Given the description of an element on the screen output the (x, y) to click on. 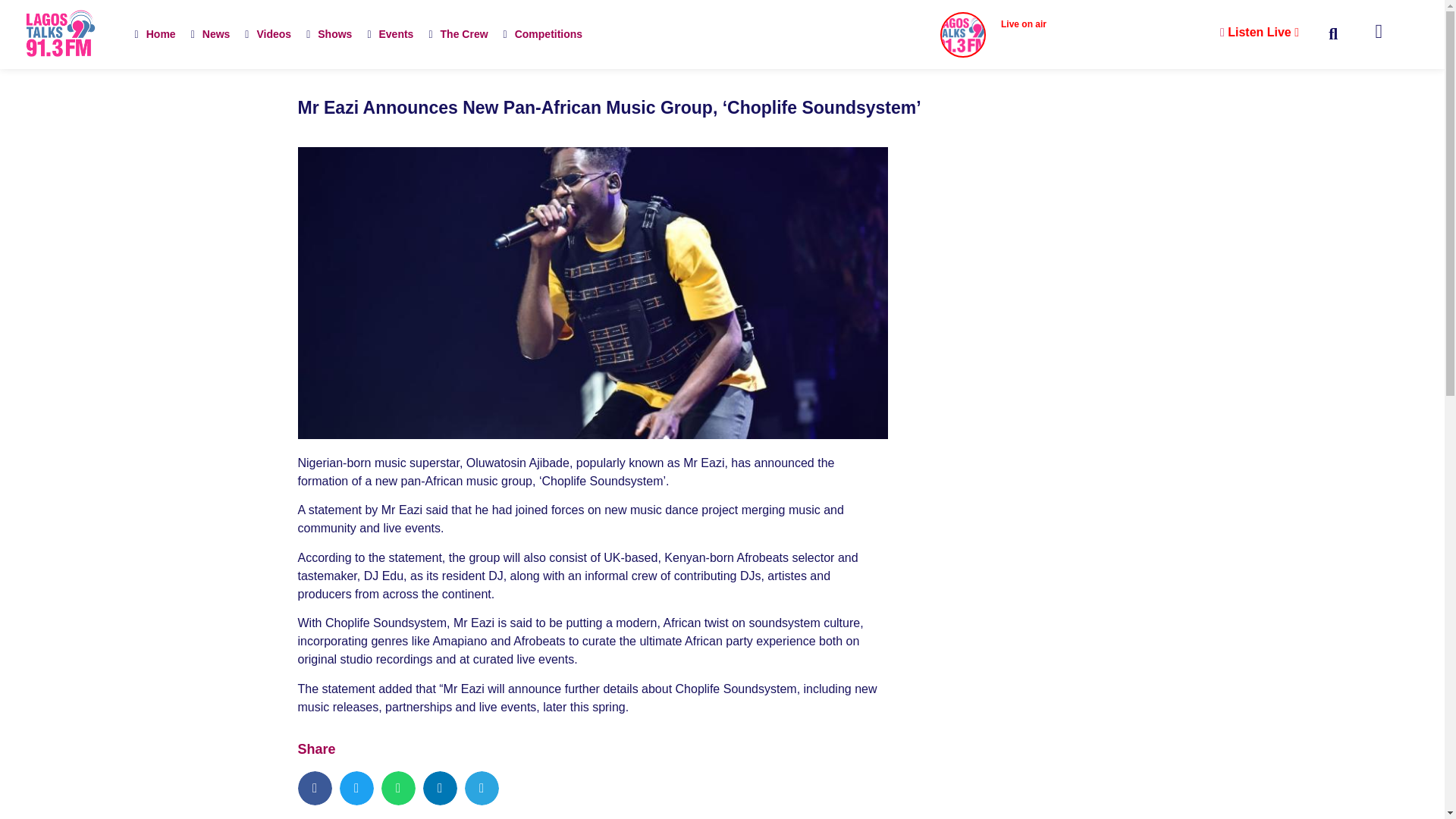
Videos (267, 33)
Home (155, 33)
News (210, 33)
Shows (328, 33)
Competitions (543, 33)
The Crew (457, 33)
Events (389, 33)
